Given the description of an element on the screen output the (x, y) to click on. 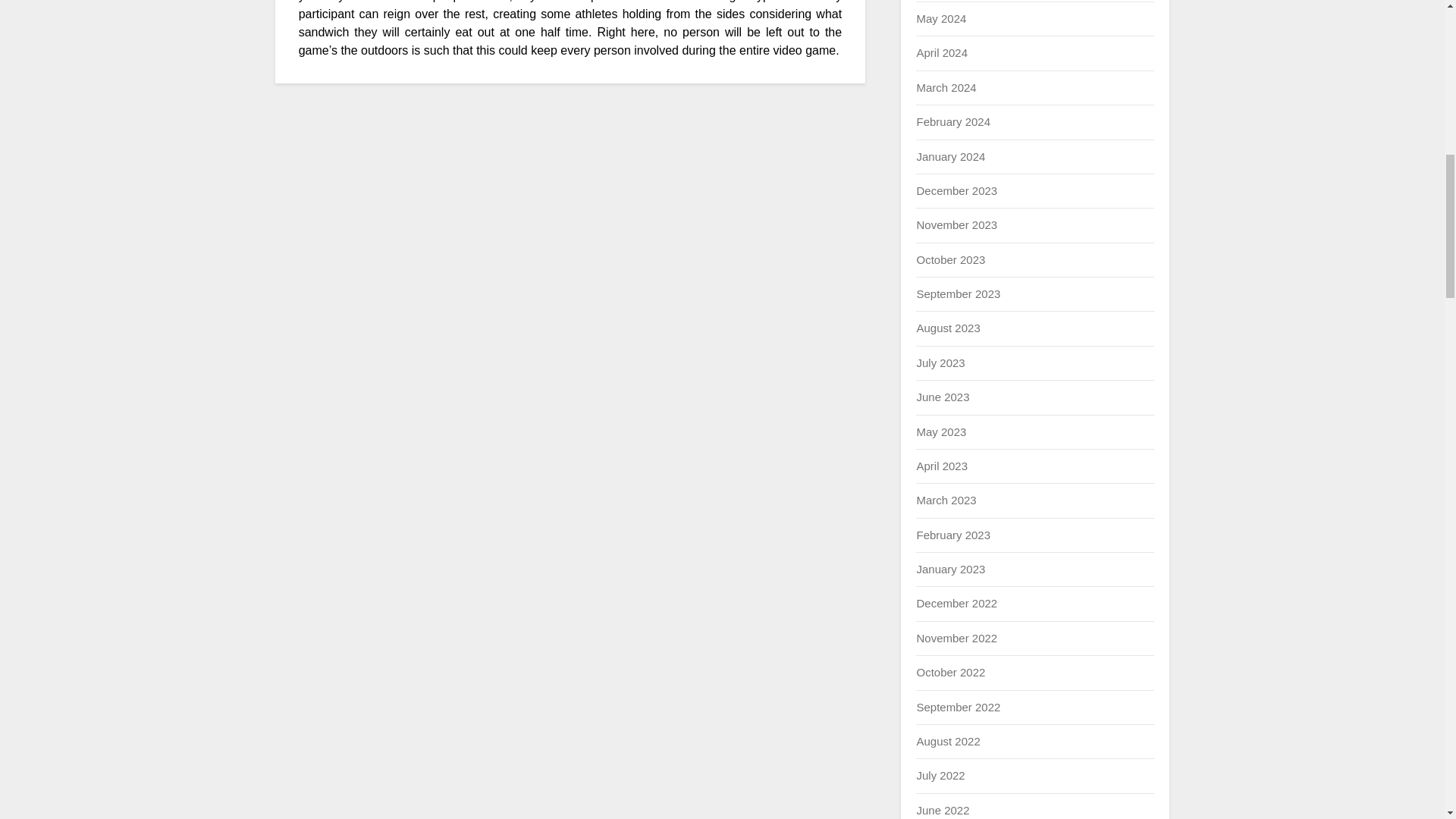
May 2024 (940, 18)
December 2022 (956, 603)
November 2022 (956, 637)
April 2023 (941, 465)
January 2023 (950, 568)
October 2023 (950, 259)
April 2024 (941, 51)
January 2024 (950, 155)
July 2023 (939, 362)
February 2024 (952, 121)
